Given the description of an element on the screen output the (x, y) to click on. 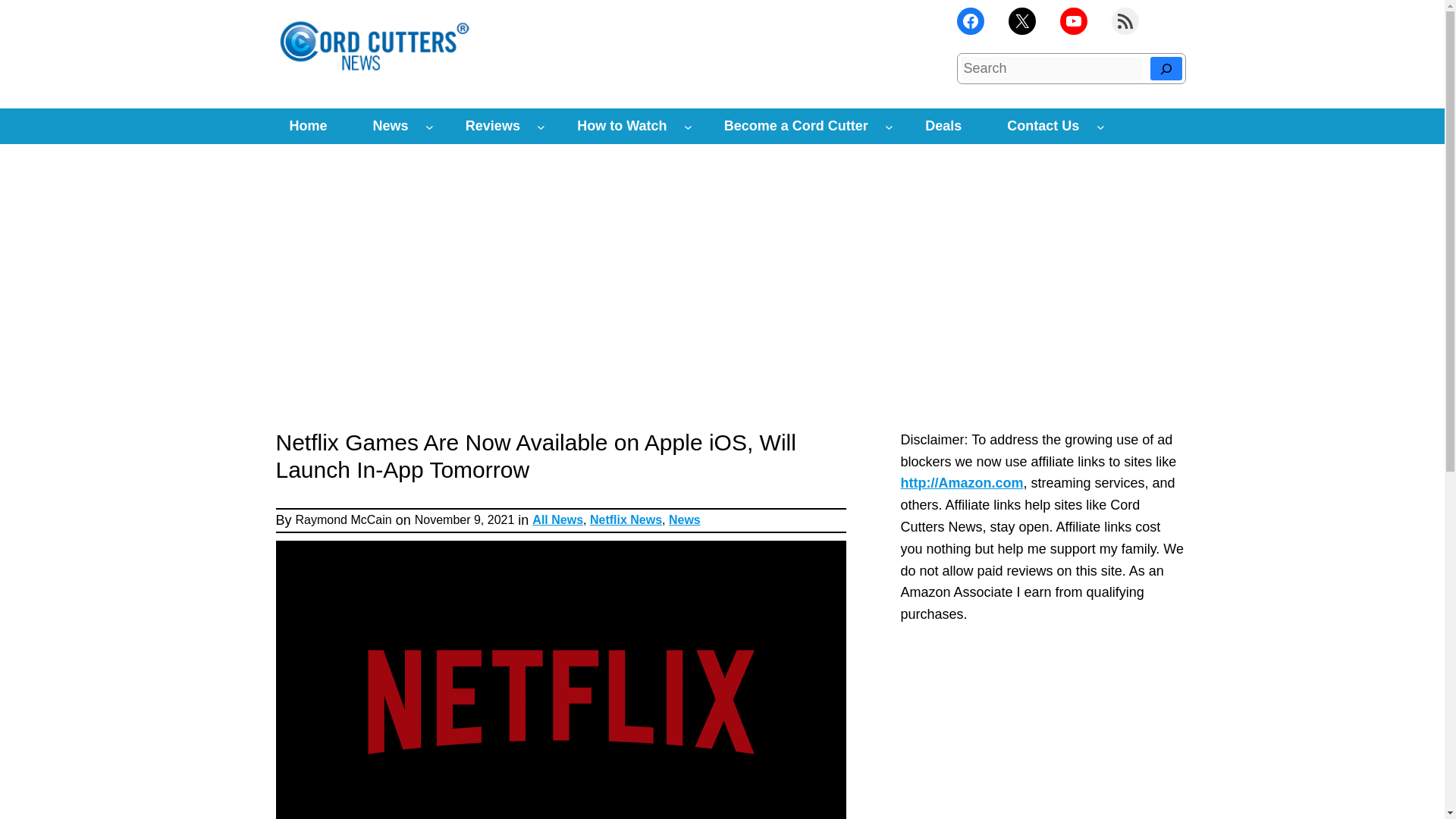
YouTube (1073, 21)
Home (308, 126)
Reviews (492, 126)
RSS Feed (1125, 21)
Facebook (970, 21)
X (1022, 21)
News (390, 126)
